Given the description of an element on the screen output the (x, y) to click on. 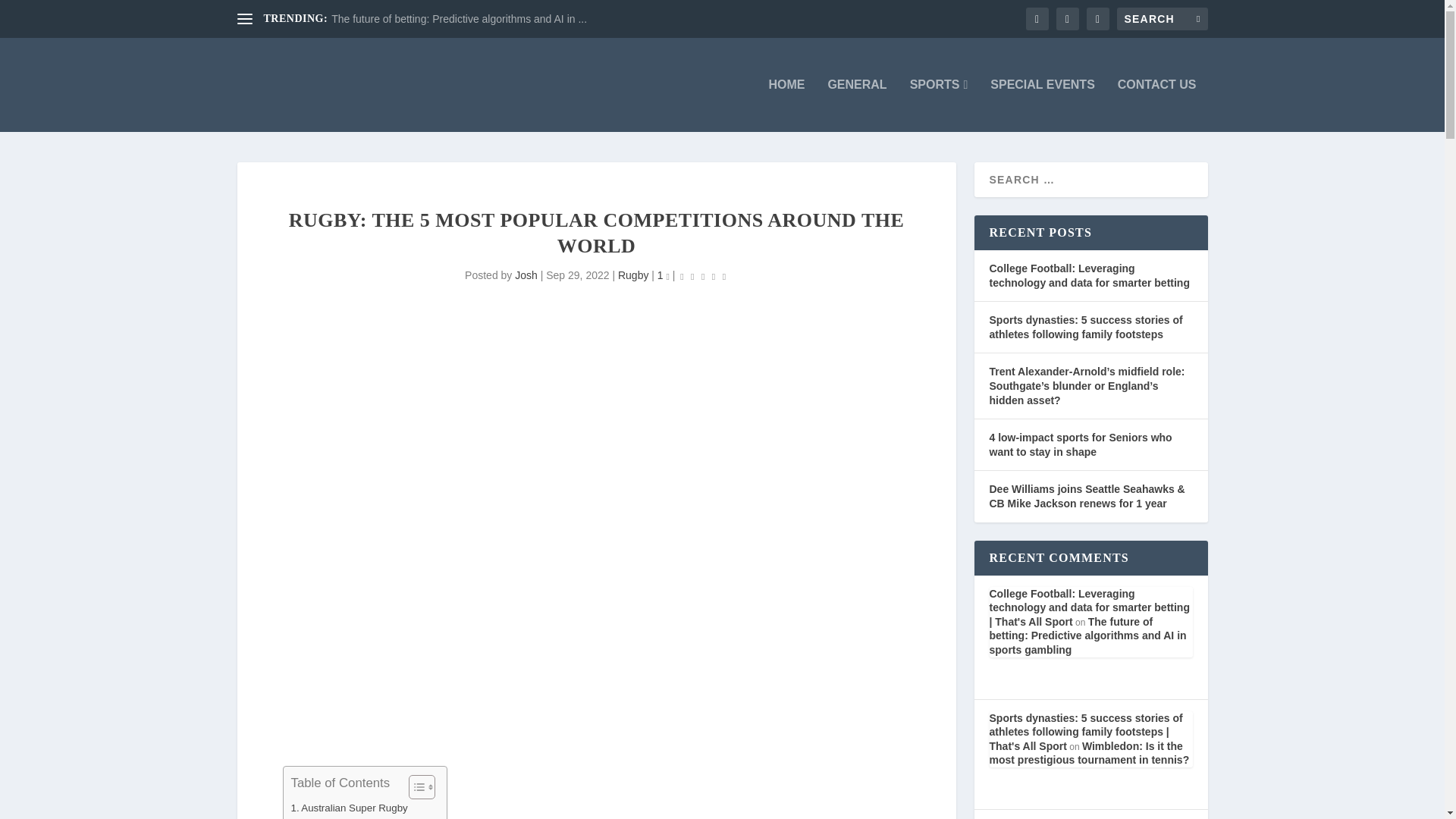
SPORTS (939, 104)
Search for: (1161, 18)
Australian Super Rugby (349, 807)
Rugby (632, 275)
Josh (526, 275)
Australian Super Rugby (349, 807)
France Top 14 (328, 817)
Posts by Josh (526, 275)
France Top 14 (328, 817)
Rating: 5.00 (703, 275)
